Given the description of an element on the screen output the (x, y) to click on. 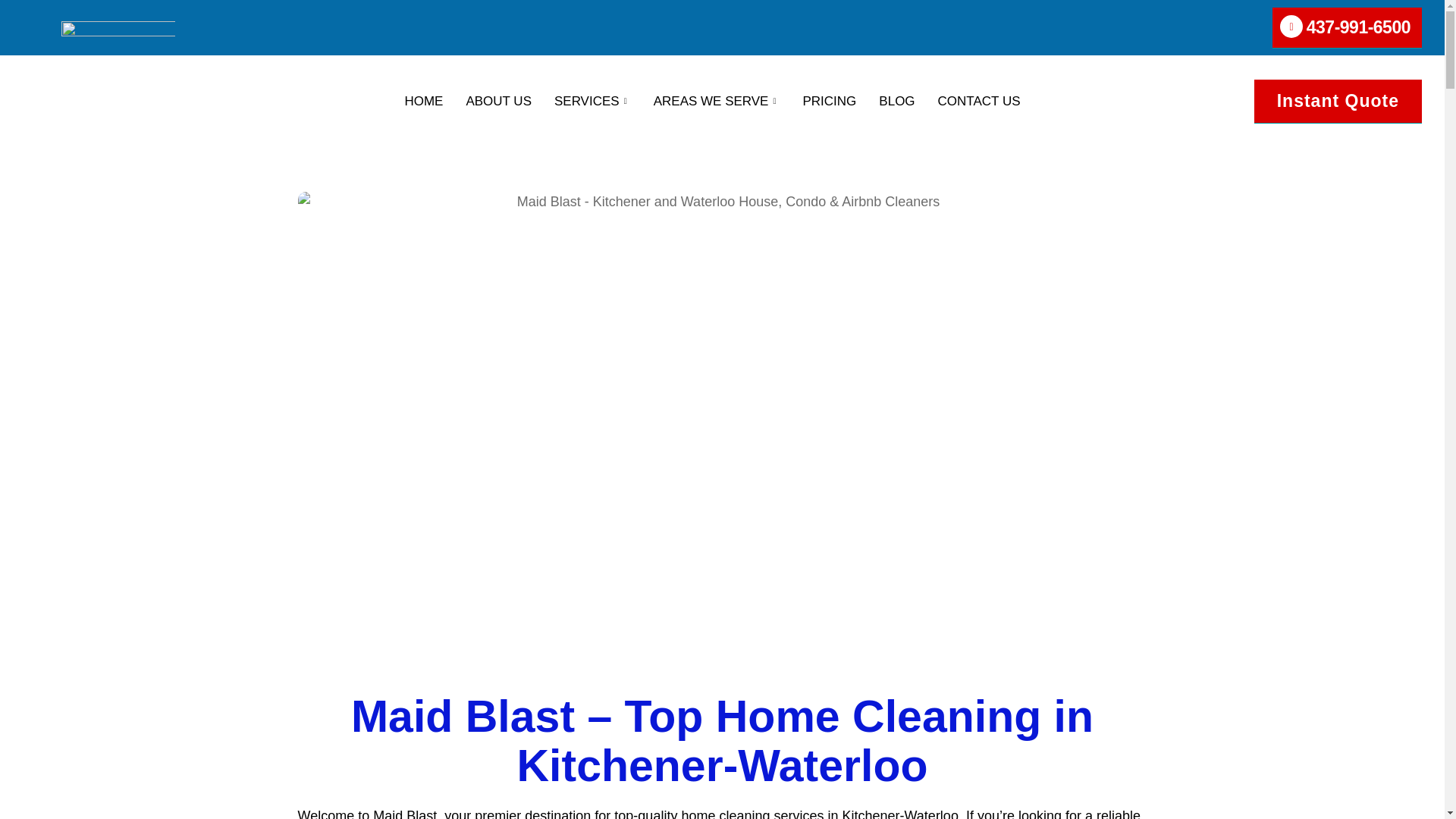
437-991-6500 (1347, 27)
ABOUT US (498, 100)
HOME (423, 100)
SERVICES (592, 100)
